Given the description of an element on the screen output the (x, y) to click on. 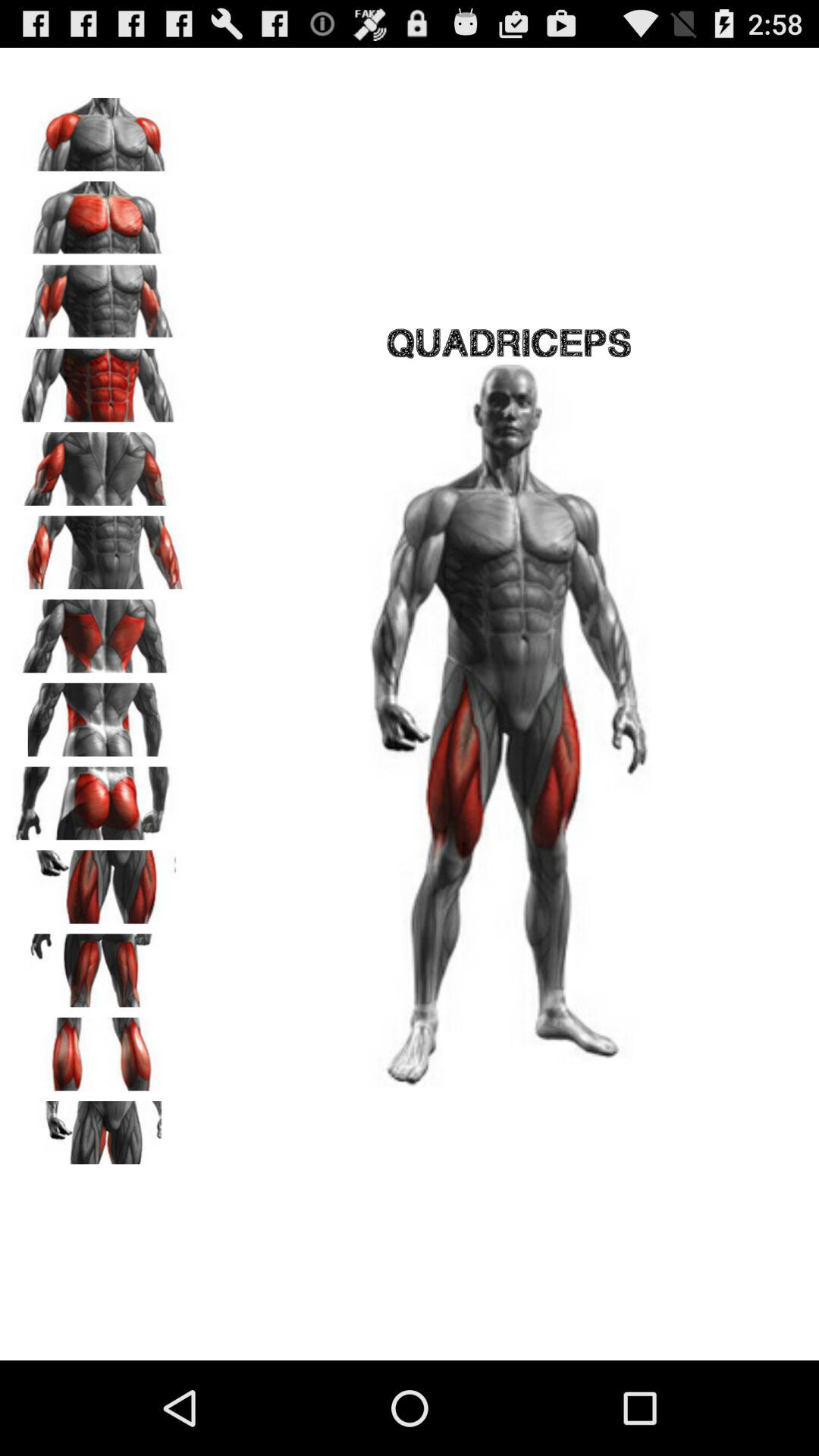
find exercises for quadriceps (99, 881)
